Given the description of an element on the screen output the (x, y) to click on. 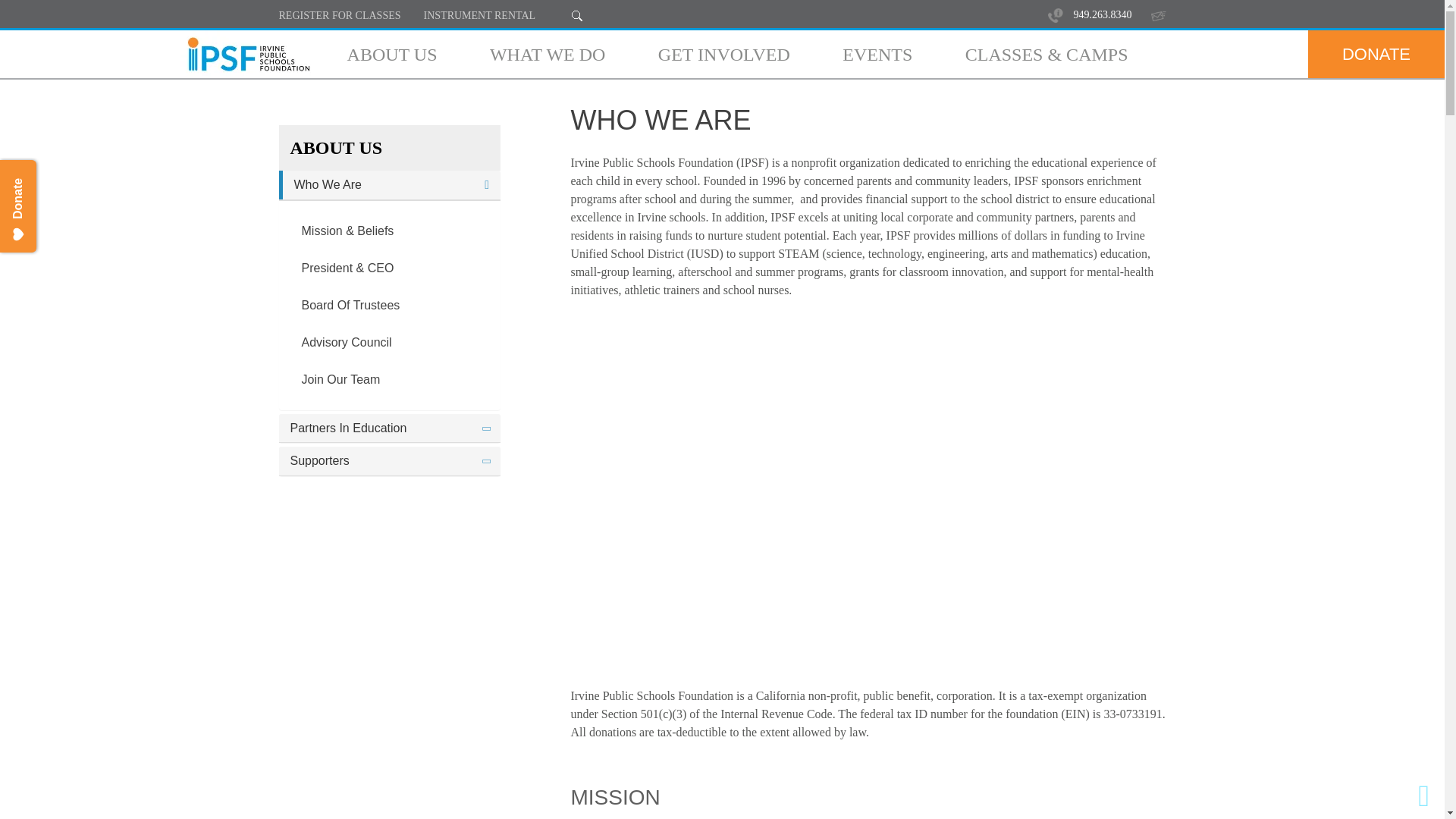
INSTRUMENT RENTAL (481, 15)
GET INVOLVED (724, 54)
WHAT WE DO (547, 54)
EVENTS (877, 54)
REGISTER FOR CLASSES (341, 15)
949.263.8340 (1103, 15)
ABOUT US (392, 54)
